Given the description of an element on the screen output the (x, y) to click on. 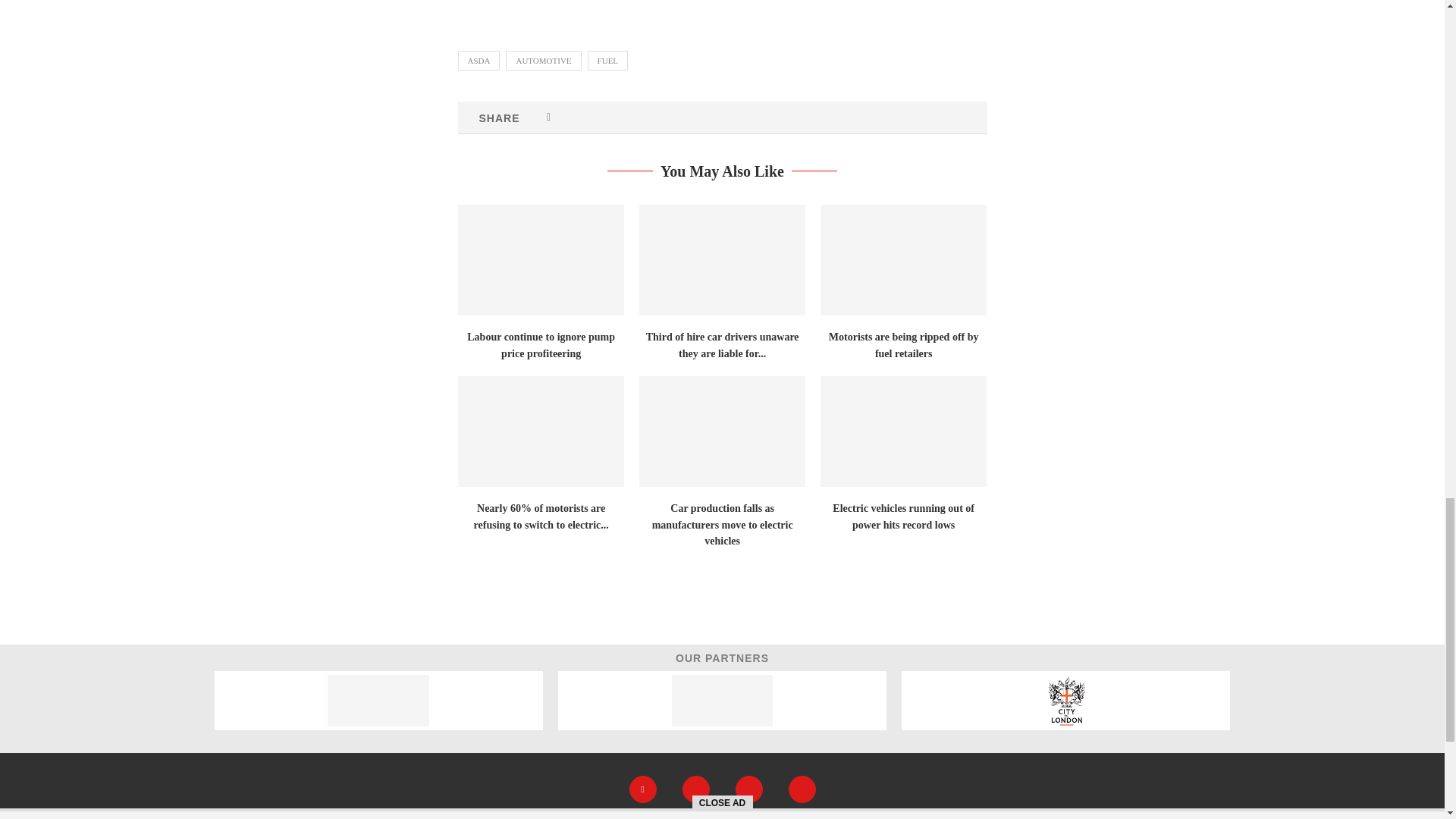
Electric vehicles running out of power hits record lows (904, 430)
Labour continue to ignore pump price profiteering (541, 259)
Motorists are being ripped off by fuel retailers (904, 259)
